Given the description of an element on the screen output the (x, y) to click on. 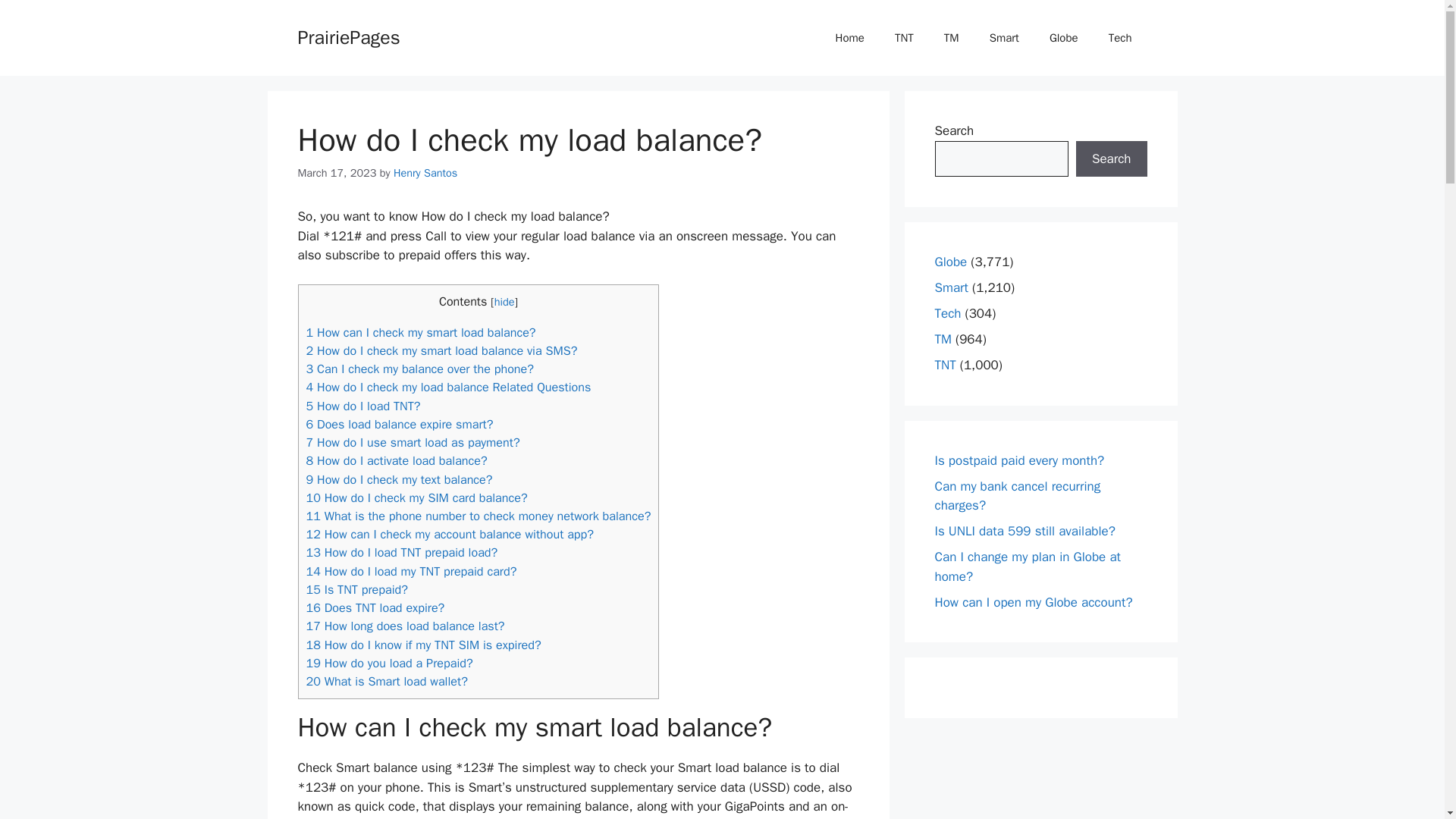
10 How do I check my SIM card balance? (416, 497)
Smart (1003, 37)
Search (1111, 158)
Smart (951, 287)
2 How do I check my smart load balance via SMS? (441, 350)
9 How do I check my text balance? (399, 479)
Globe (1063, 37)
17 How long does load balance last? (405, 625)
TNT (903, 37)
Henry Santos (425, 172)
